Given the description of an element on the screen output the (x, y) to click on. 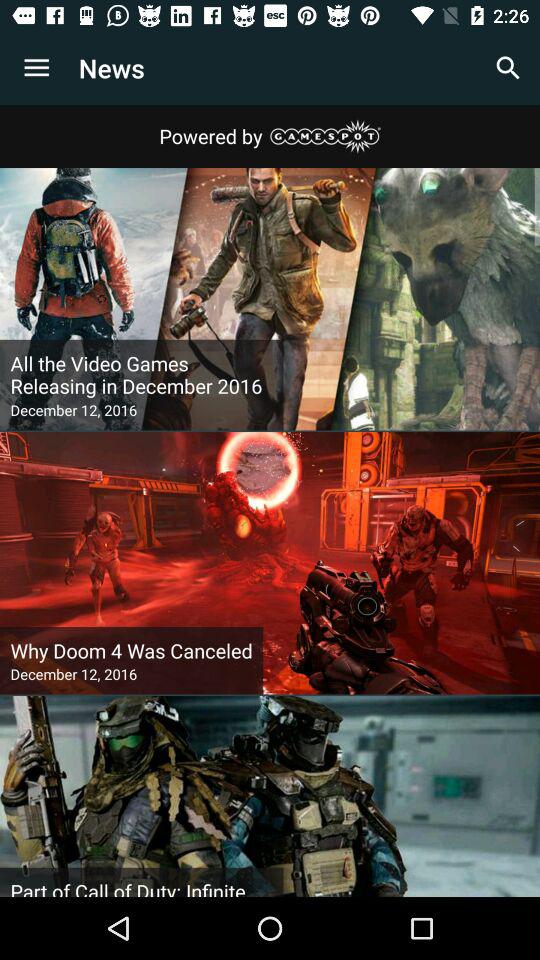
turn on the icon next to the news app (36, 68)
